Given the description of an element on the screen output the (x, y) to click on. 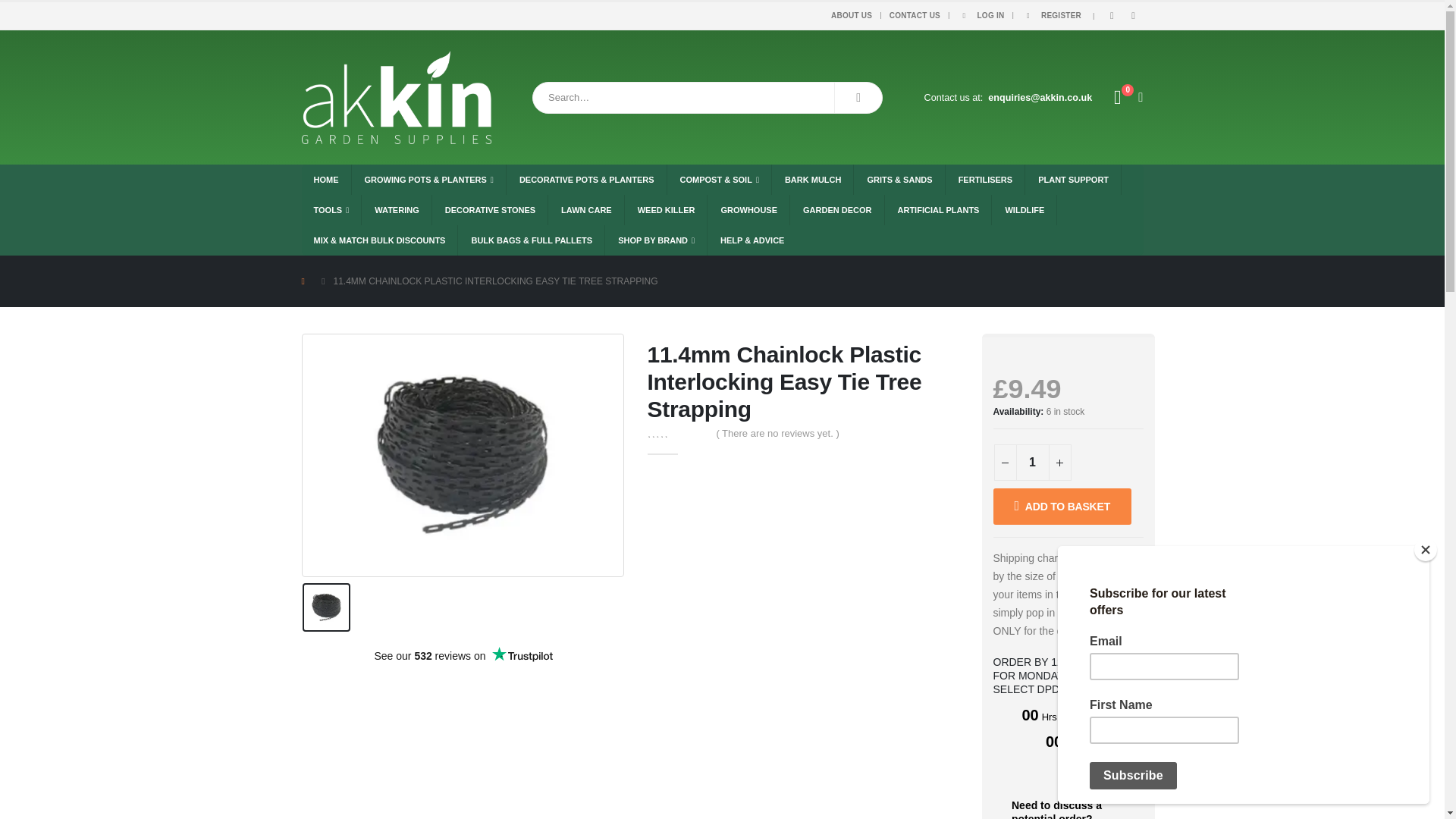
LOG IN (981, 15)
Instagram (1133, 15)
Search (858, 97)
REGISTER (1050, 15)
image310269365.jpg (326, 607)
image310269365.jpg (462, 455)
ABOUT US (853, 15)
Customer reviews powered by Trustpilot (462, 656)
1 (1032, 462)
Facebook (1112, 15)
CONTACT US (914, 15)
